Given the description of an element on the screen output the (x, y) to click on. 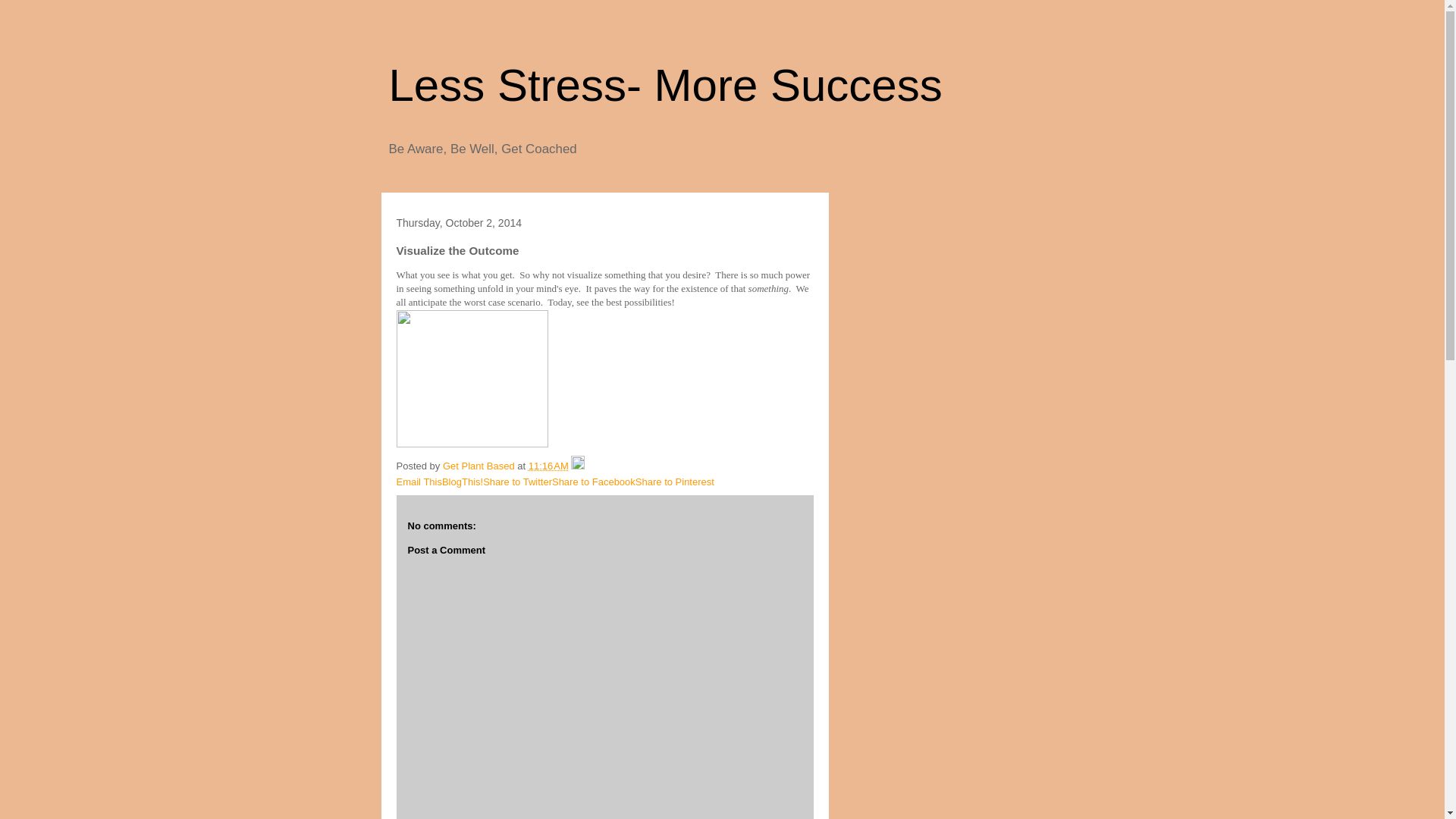
Less Stress- More Success (665, 84)
BlogThis! (462, 481)
Edit Post (577, 465)
Share to Pinterest (674, 481)
Share to Twitter (517, 481)
Share to Pinterest (674, 481)
Email This (418, 481)
Email This (418, 481)
permanent link (548, 465)
Share to Facebook (592, 481)
Share to Facebook (592, 481)
BlogThis! (462, 481)
Share to Twitter (517, 481)
author profile (479, 465)
